Given the description of an element on the screen output the (x, y) to click on. 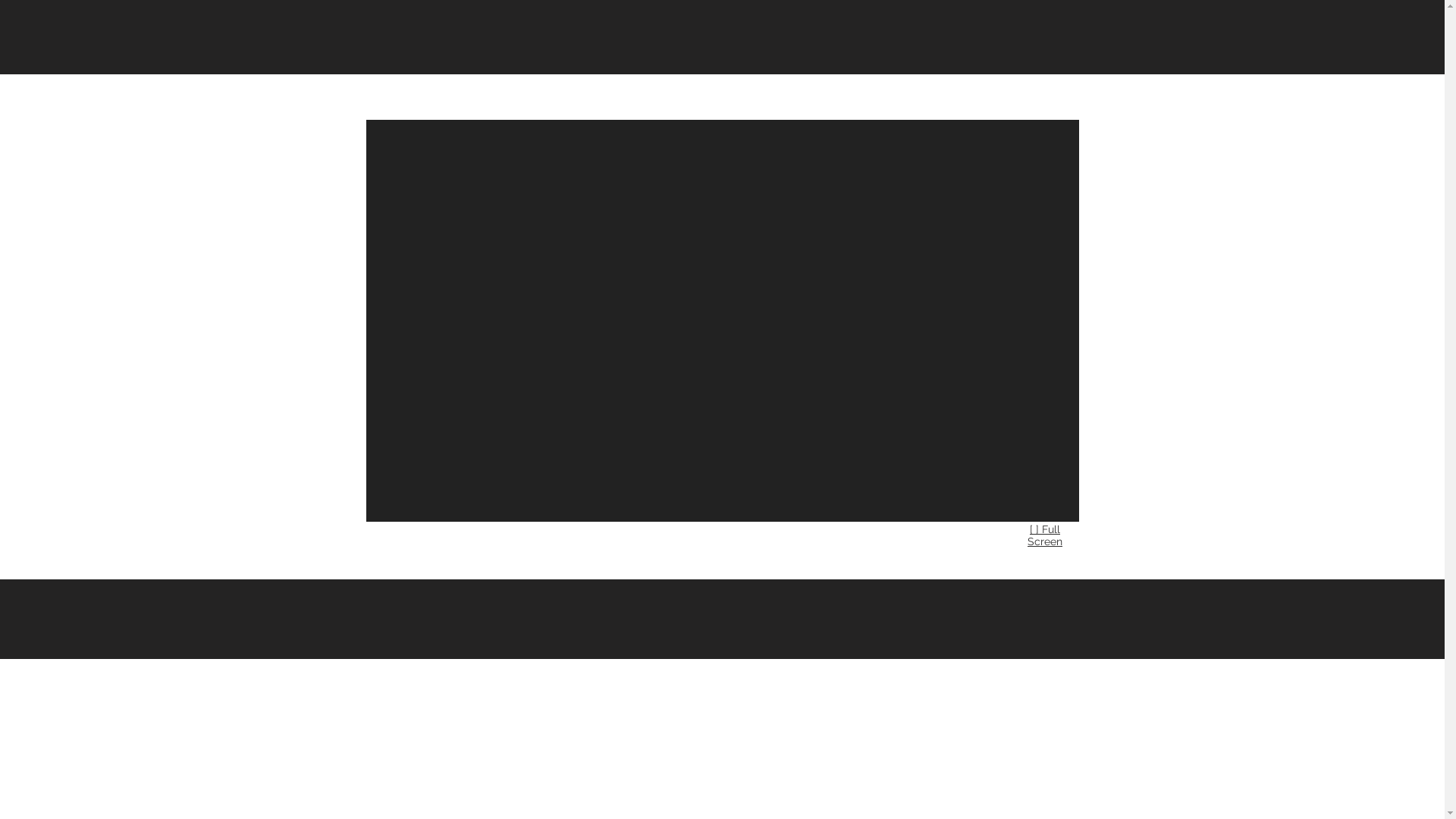
Embedded Content Element type: hover (721, 320)
[ ] Full Screen Element type: text (1044, 535)
